Given the description of an element on the screen output the (x, y) to click on. 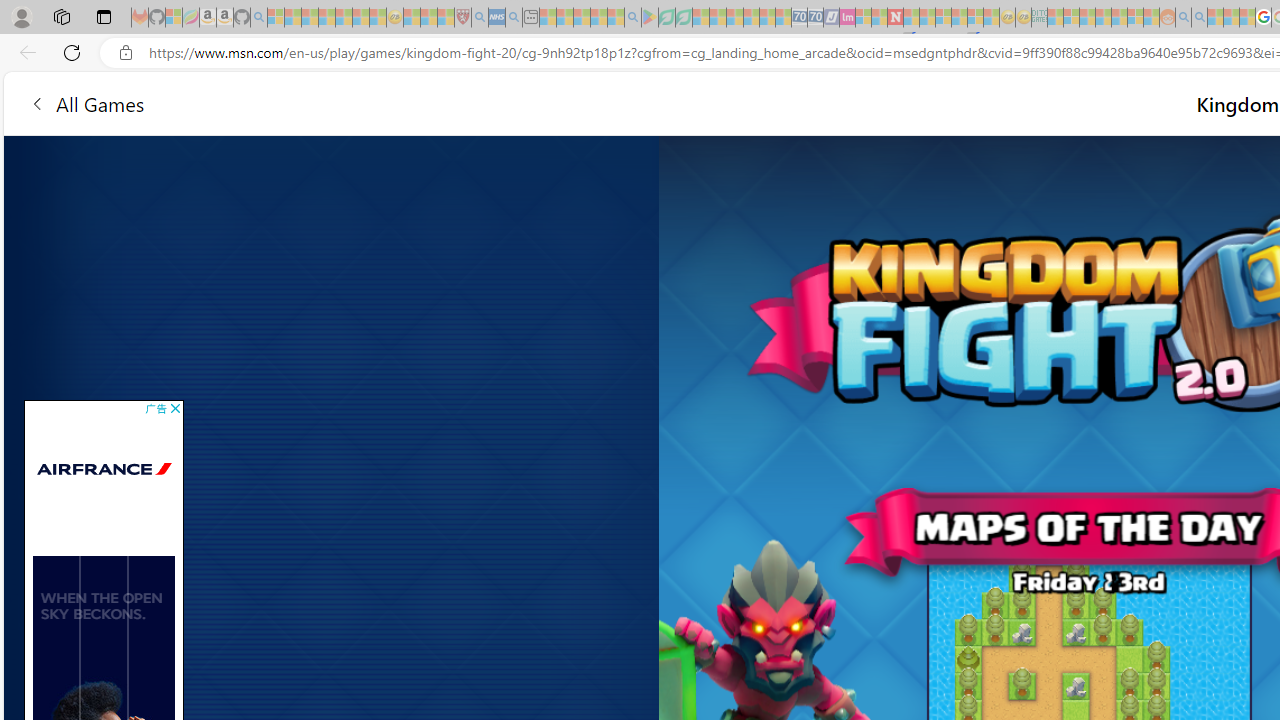
The Weather Channel - MSN - Sleeping (309, 17)
Cheap Hotels - Save70.com - Sleeping (815, 17)
All Games (86, 102)
